Given the description of an element on the screen output the (x, y) to click on. 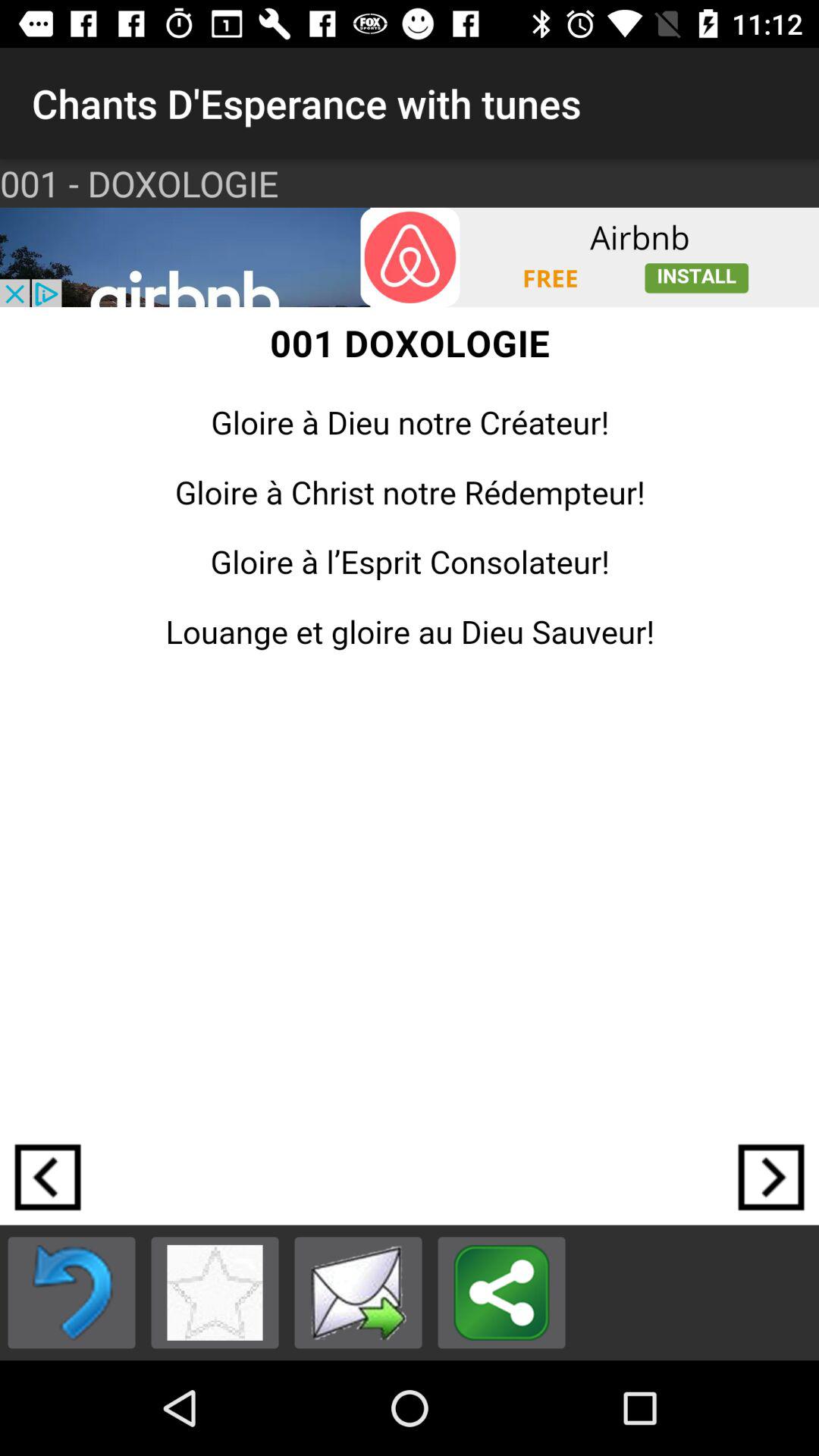
go to advertisement website (409, 257)
